Given the description of an element on the screen output the (x, y) to click on. 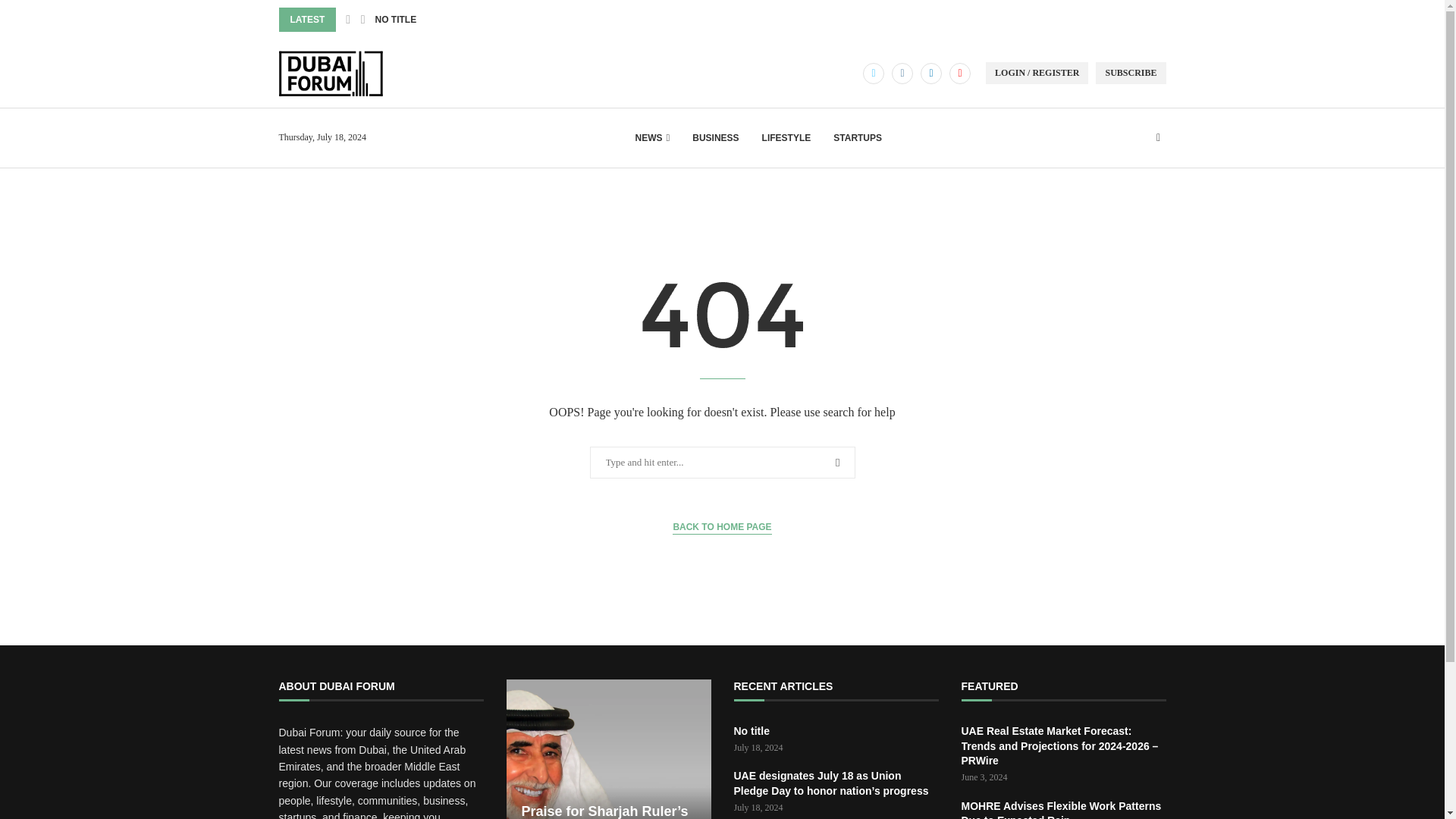
LIFESTYLE (785, 137)
SUBSCRIBE (1131, 73)
BUSINESS (715, 137)
NO TITLE (395, 19)
STARTUPS (857, 137)
